Given the description of an element on the screen output the (x, y) to click on. 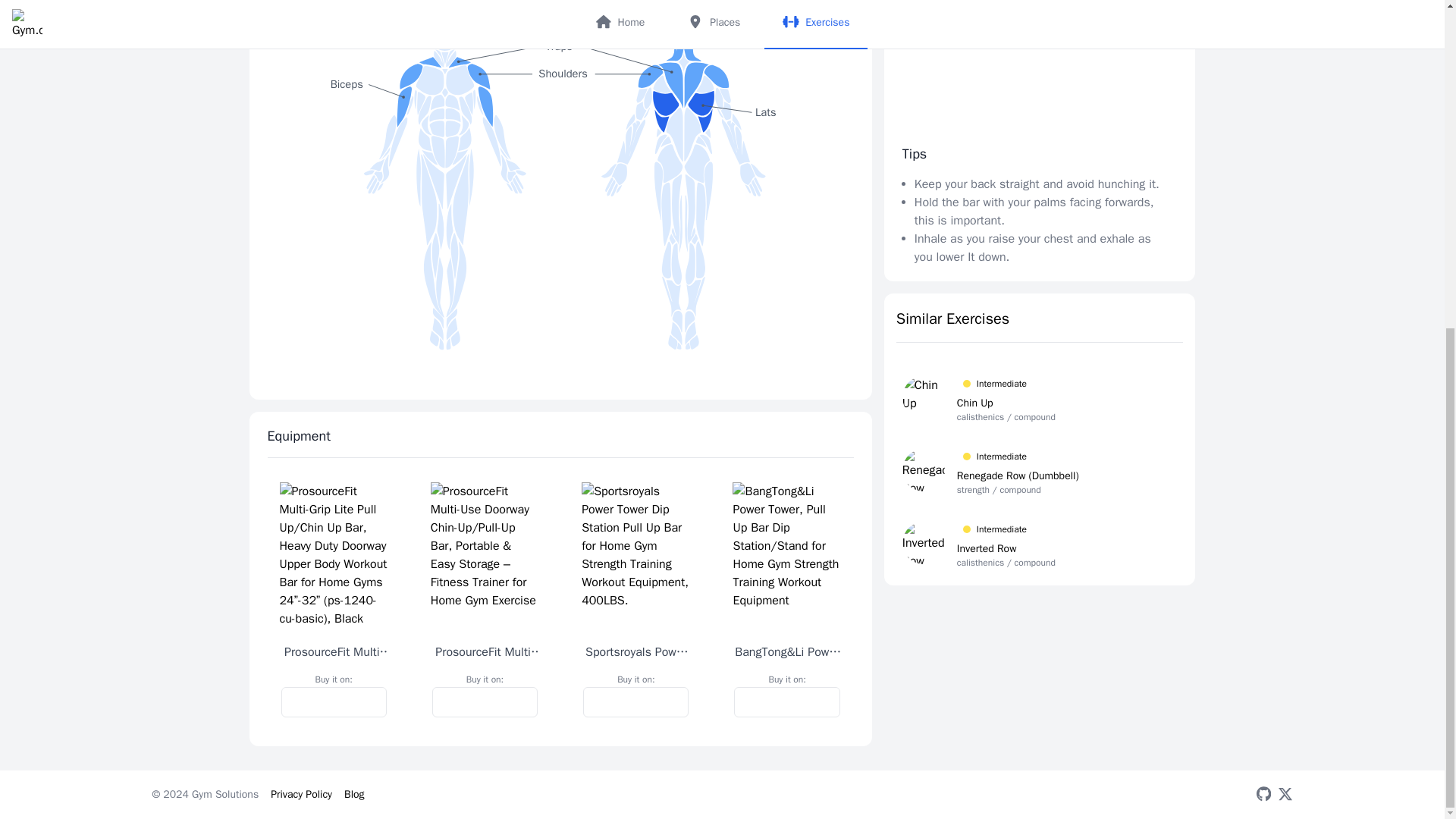
Buy on amazon (484, 702)
Intermediate (1005, 528)
Buy on amazon (635, 702)
Privacy Policy (300, 793)
Blog (354, 793)
Intermediate (1017, 456)
Chin Up (1005, 403)
Intermediate (1005, 383)
Buy on amazon (333, 702)
Buy on amazon (786, 702)
